Given the description of an element on the screen output the (x, y) to click on. 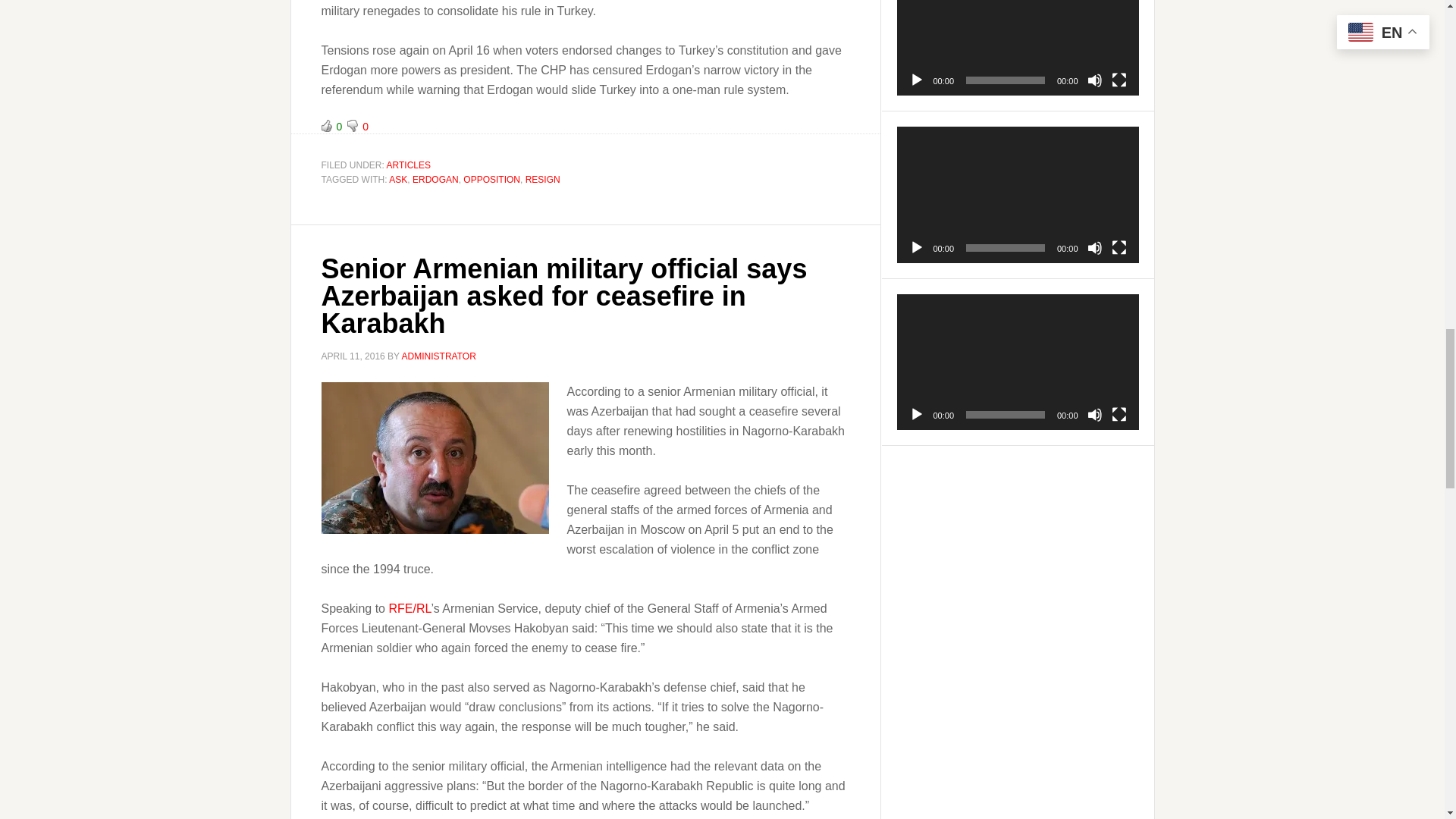
Mute (1094, 79)
Fullscreen (1119, 79)
Play (915, 79)
ARTICLES (408, 164)
OPPOSITION (491, 179)
Play (915, 247)
RESIGN (542, 179)
ASK (397, 179)
ADMINISTRATOR (438, 356)
ERDOGAN (435, 179)
